Given the description of an element on the screen output the (x, y) to click on. 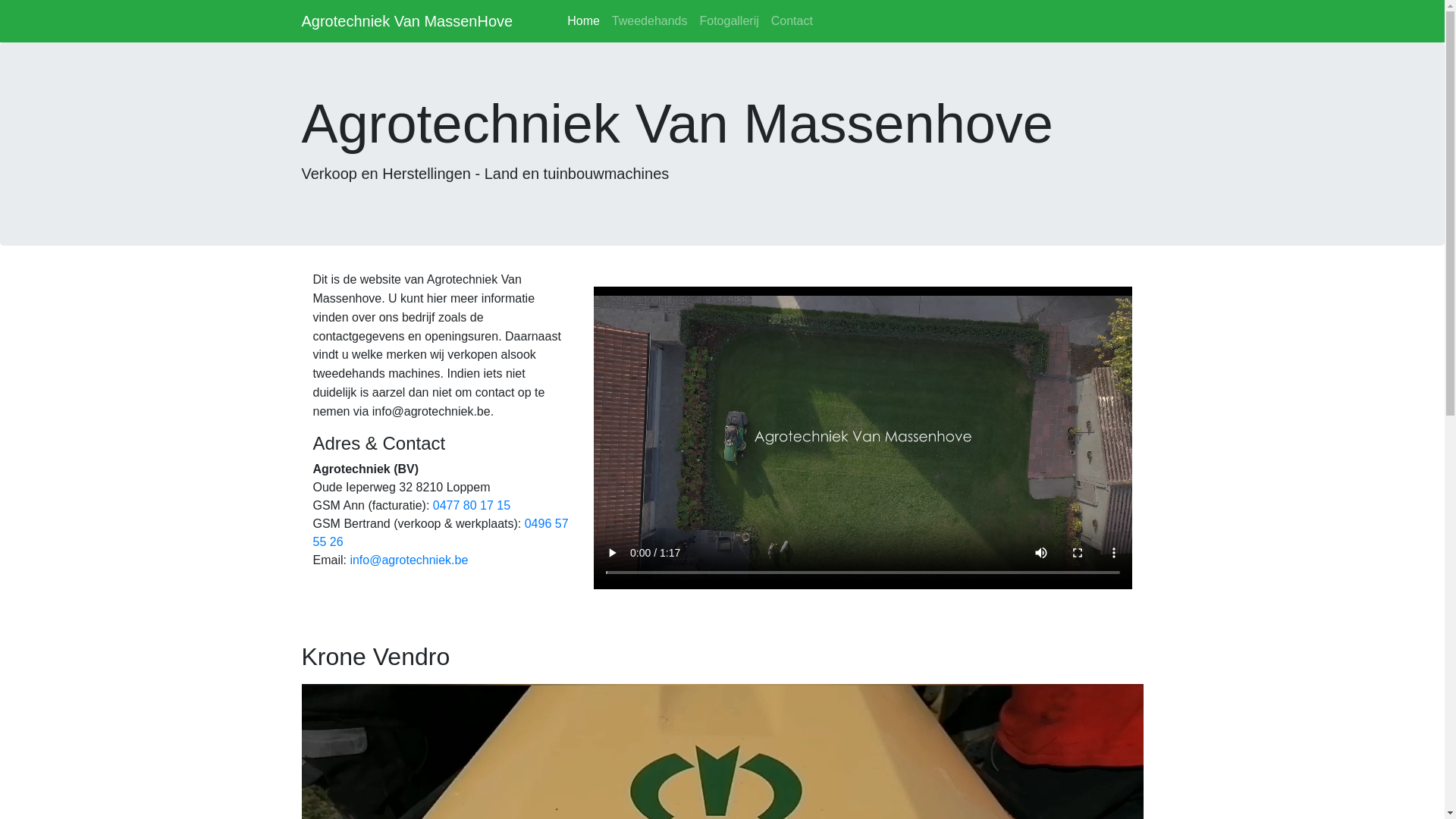
Agrotechniek Van MassenHove Element type: text (407, 21)
0496 57 55 26 Element type: text (439, 532)
0477 80 17 15 Element type: text (471, 504)
Contact Element type: text (792, 21)
Fotogallerij Element type: text (728, 21)
info@agrotechniek.be Element type: text (408, 559)
Home Element type: text (583, 21)
Tweedehands Element type: text (649, 21)
